Given the description of an element on the screen output the (x, y) to click on. 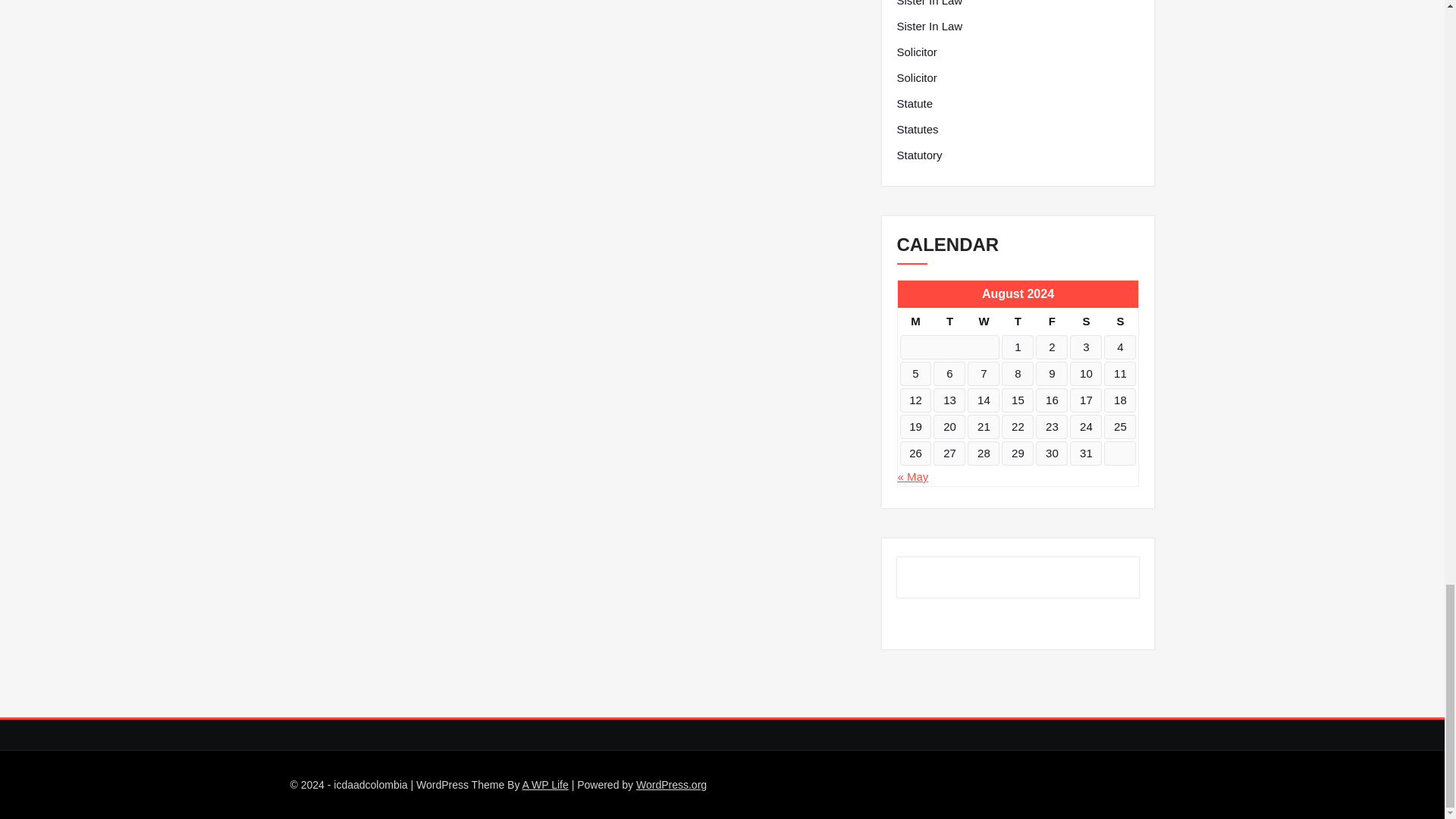
Wednesday (983, 321)
Tuesday (949, 321)
Friday (1051, 321)
Monday (915, 321)
Thursday (1017, 321)
Sunday (1119, 321)
Saturday (1086, 321)
